Given the description of an element on the screen output the (x, y) to click on. 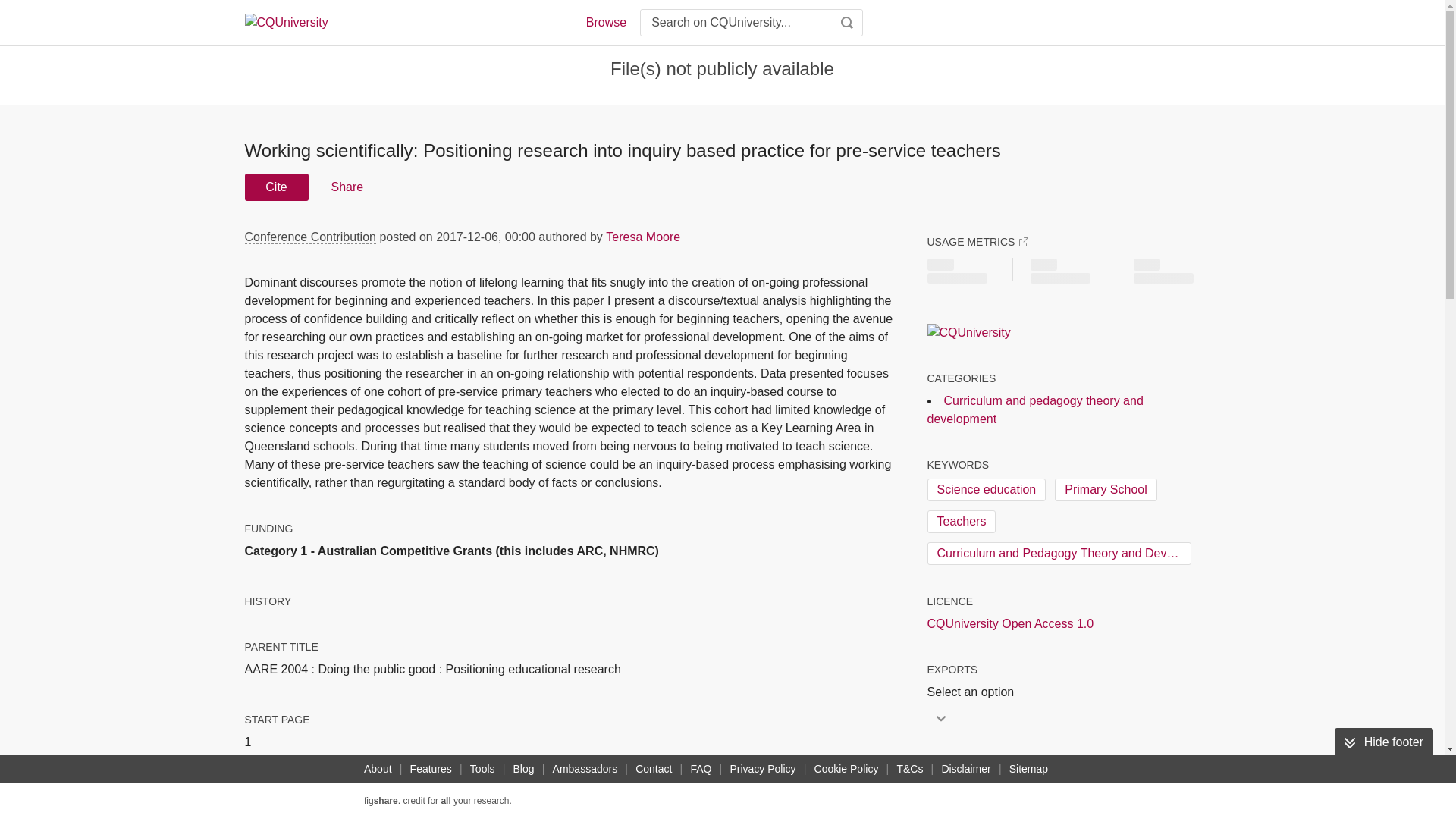
Select an option (974, 692)
Browse (605, 22)
Ambassadors (585, 769)
Curriculum and pedagogy theory and development (1034, 409)
Privacy Policy (762, 769)
Blog (523, 769)
Cite (275, 186)
Teachers (960, 521)
About (377, 769)
CQUniversity Open Access 1.0 (1009, 624)
